Given the description of an element on the screen output the (x, y) to click on. 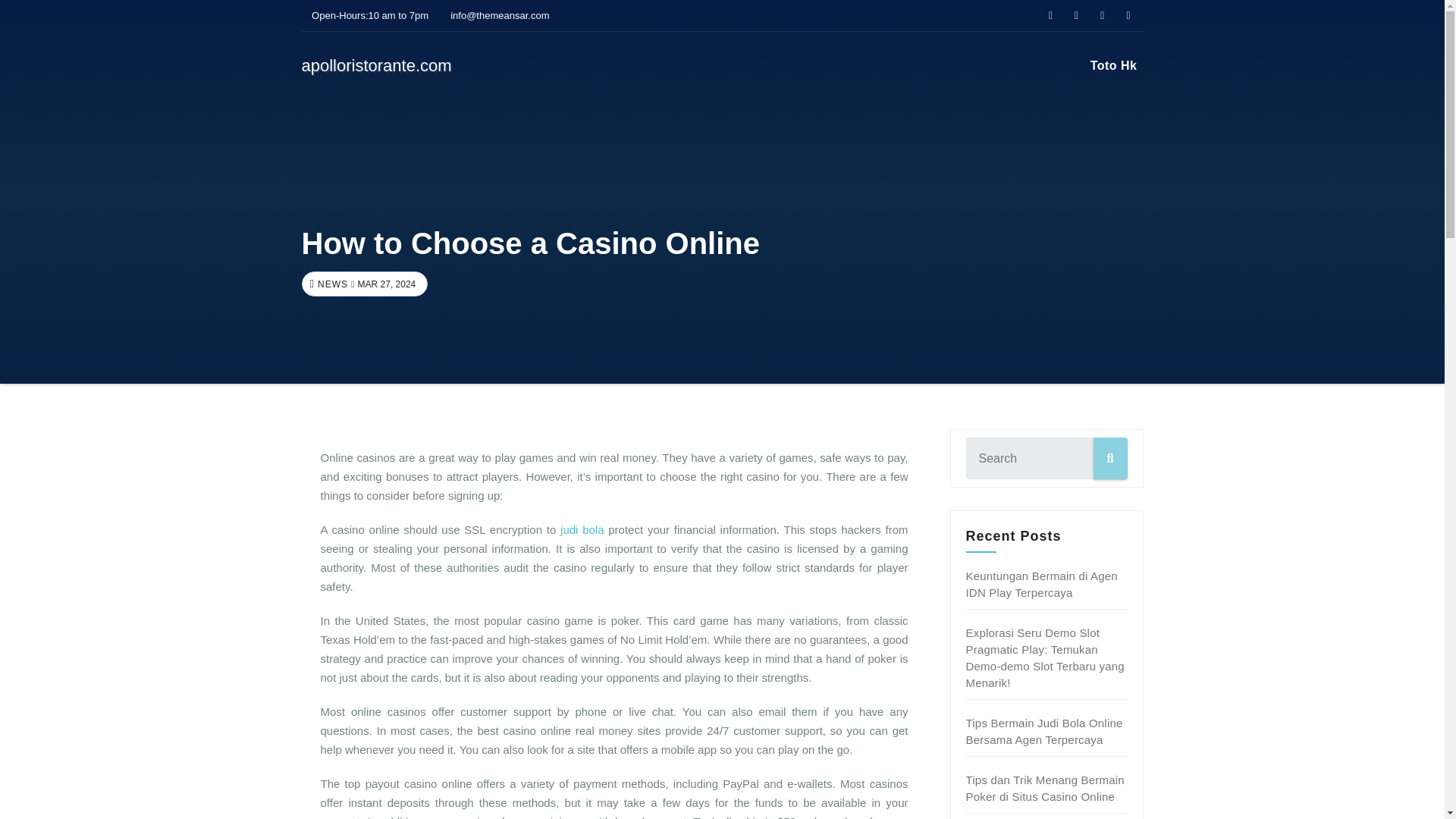
Tips dan Trik Menang Bermain Poker di Situs Casino Online (1045, 788)
judi bola (582, 529)
Keuntungan Bermain di Agen IDN Play Terpercaya (1042, 583)
Tips Bermain Judi Bola Online Bersama Agen Terpercaya (1044, 731)
apolloristorante.com (376, 65)
NEWS (330, 284)
Open-Hours:10 am to 7pm (365, 15)
